Given the description of an element on the screen output the (x, y) to click on. 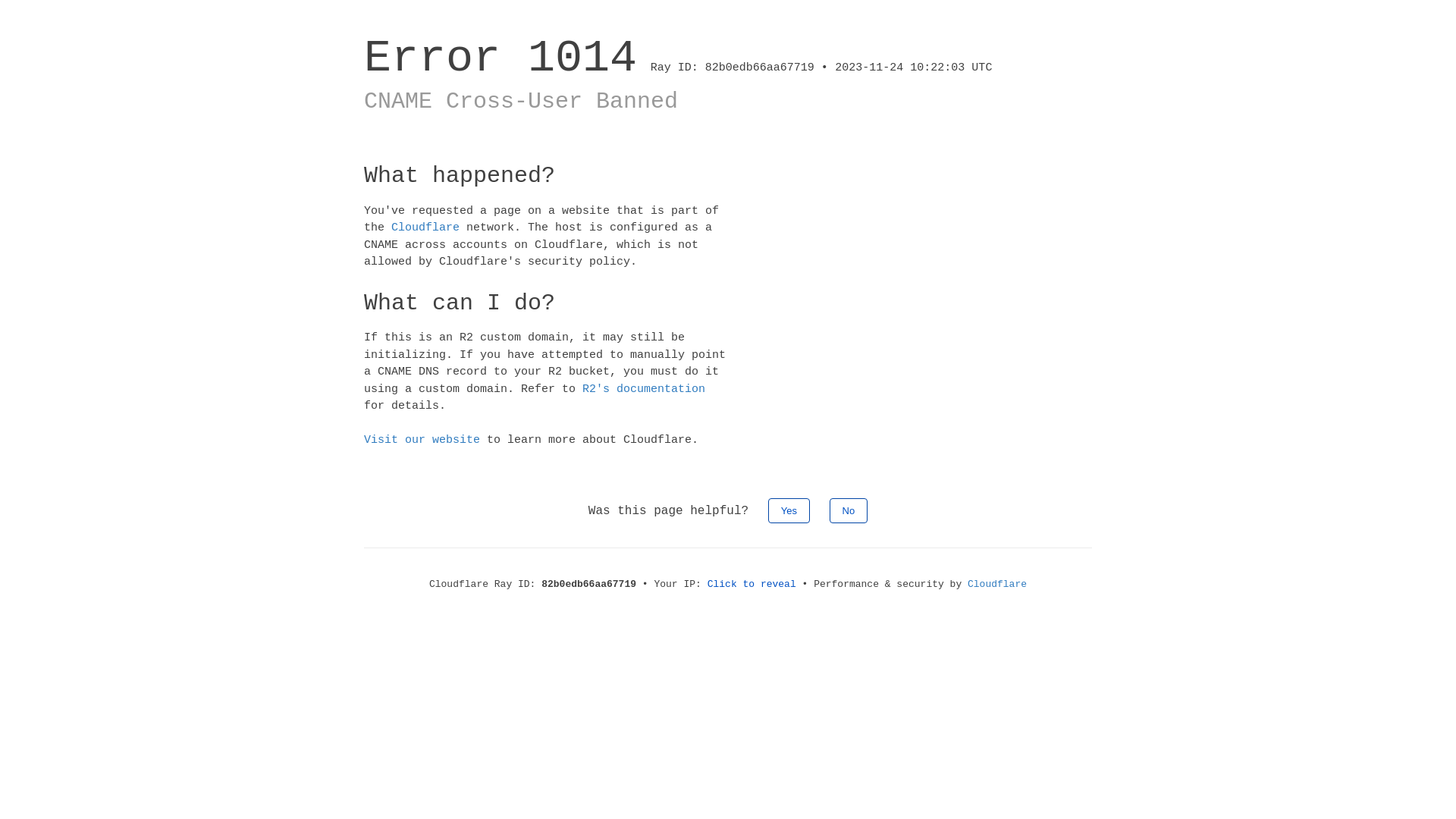
Cloudflare Element type: text (996, 583)
Yes Element type: text (788, 509)
Cloudflare Element type: text (425, 227)
No Element type: text (848, 509)
Click to reveal Element type: text (751, 583)
R2's documentation Element type: text (643, 388)
Visit our website Element type: text (422, 439)
